Given the description of an element on the screen output the (x, y) to click on. 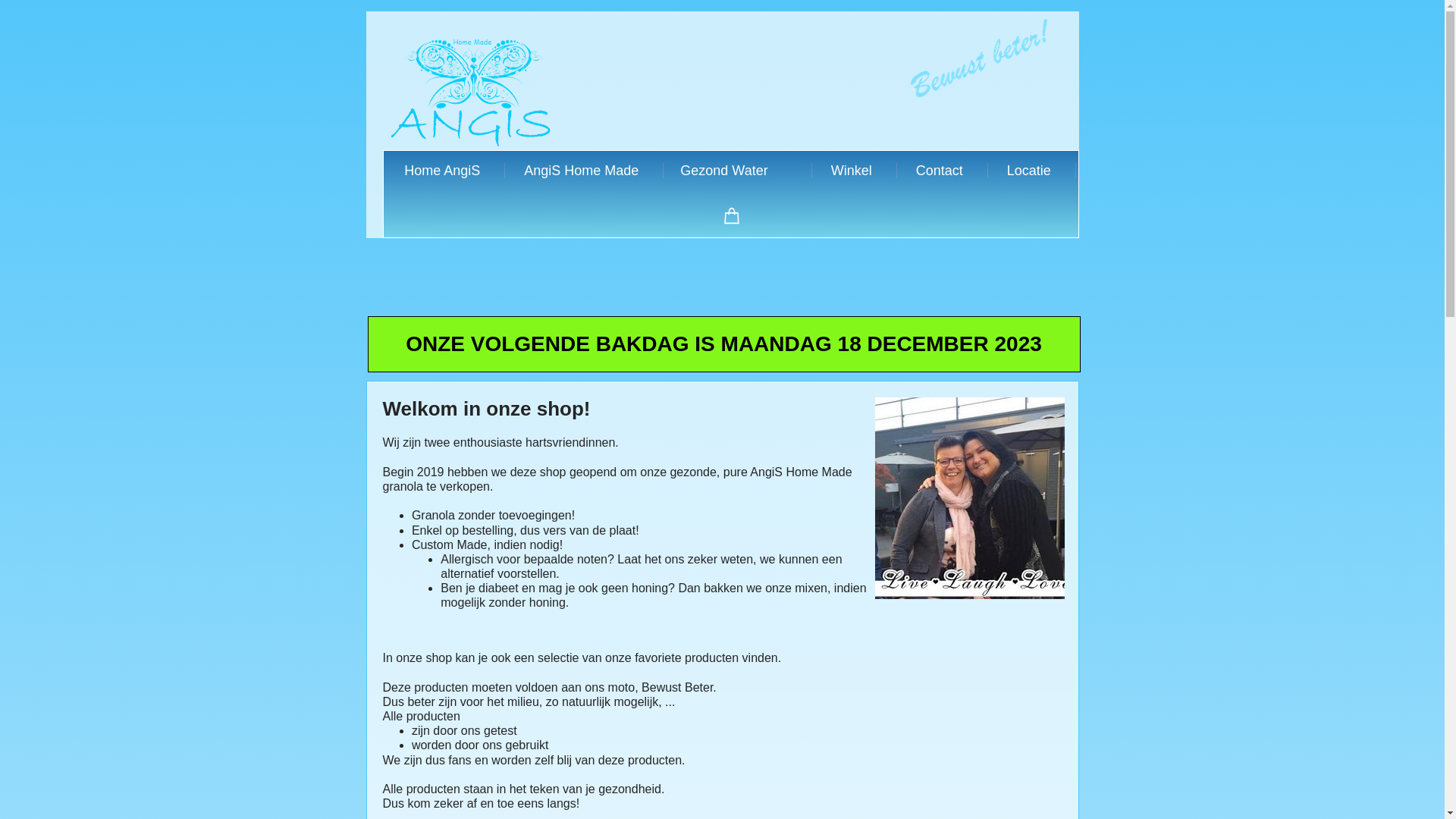
Winkel Element type: text (850, 170)
Gezond Water Element type: text (733, 170)
AngiS Home Made Element type: text (580, 170)
Locatie Element type: text (1027, 170)
Home AngiS Element type: text (440, 170)
Contact Element type: text (938, 170)
ONZE VOLGENDE BAKDAG IS MAANDAG 18 DECEMBER 2023 Element type: text (723, 343)
